Given the description of an element on the screen output the (x, y) to click on. 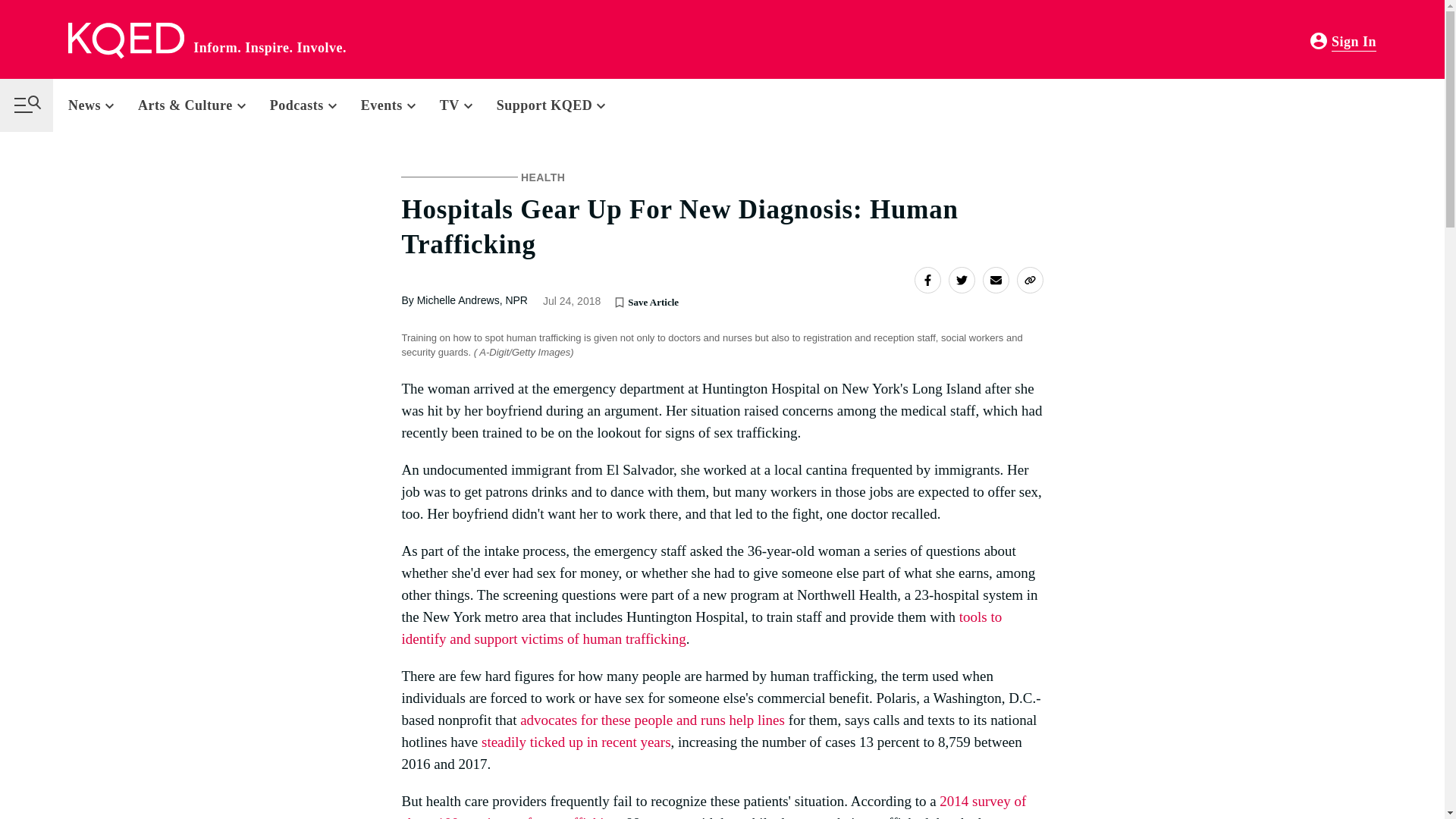
News (96, 104)
Save Article (619, 302)
KQED (126, 40)
KQED (126, 40)
